Given the description of an element on the screen output the (x, y) to click on. 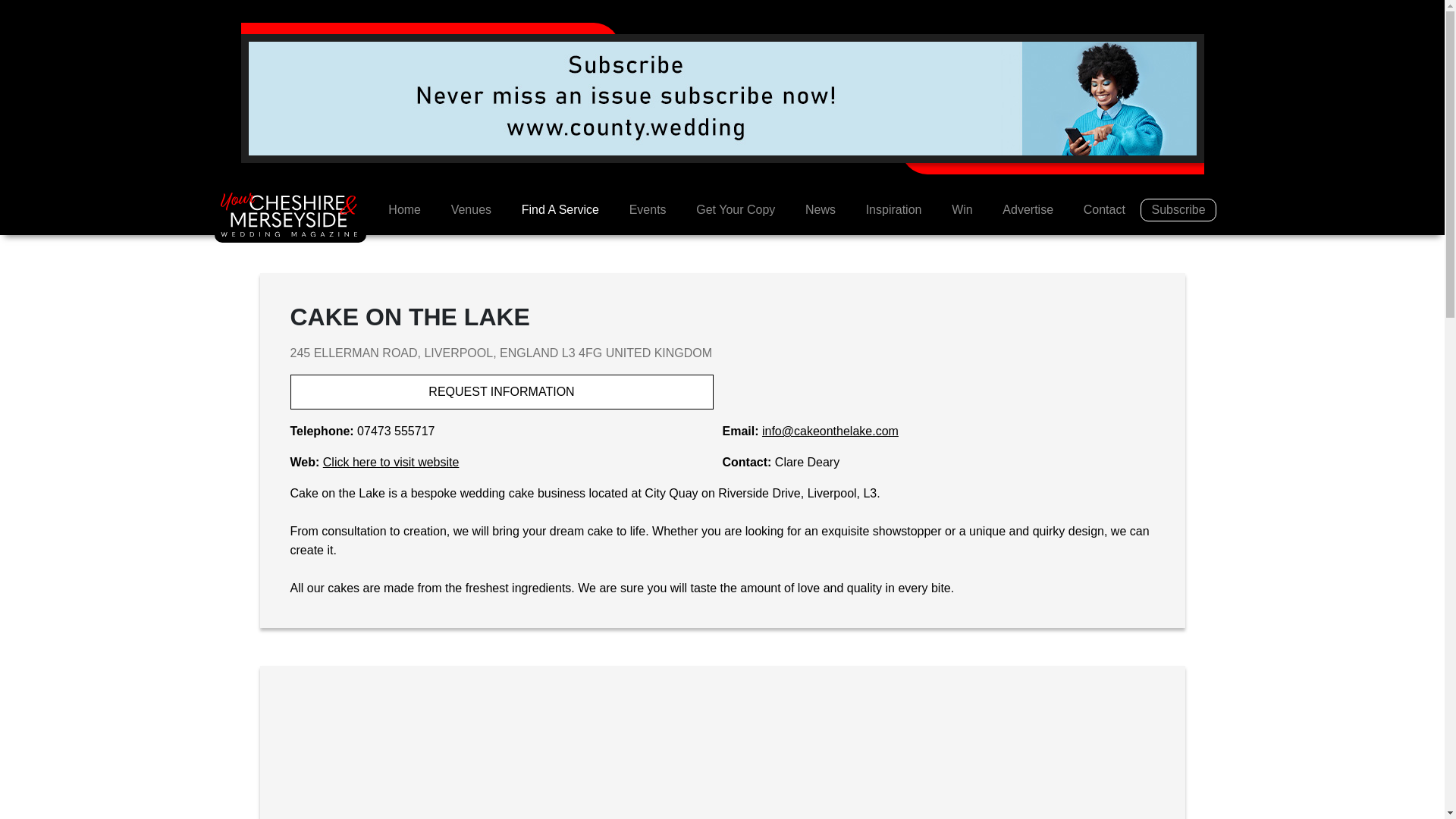
Visit the Cake on the Lake website (391, 461)
Find your dream wedding venue in Cheshire and Merseyside (470, 209)
Your Cheshire and Merseyside Wedding (289, 215)
Email Cake on the Lake (829, 431)
Contact (1104, 209)
REQUEST INFORMATION (501, 391)
Venues (470, 209)
